Given the description of an element on the screen output the (x, y) to click on. 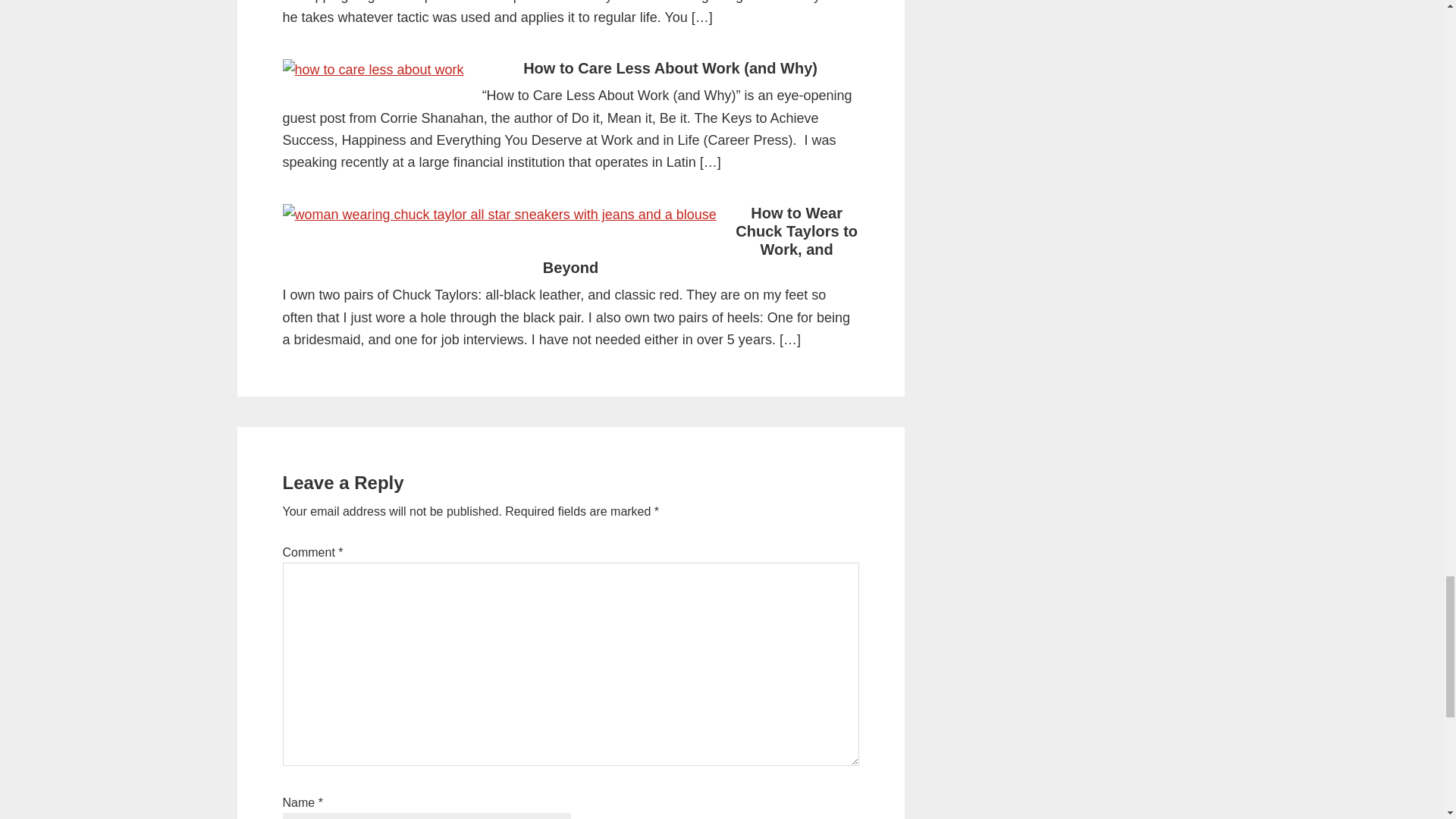
How to Wear Chuck Taylors to Work, and Beyond (700, 240)
